Given the description of an element on the screen output the (x, y) to click on. 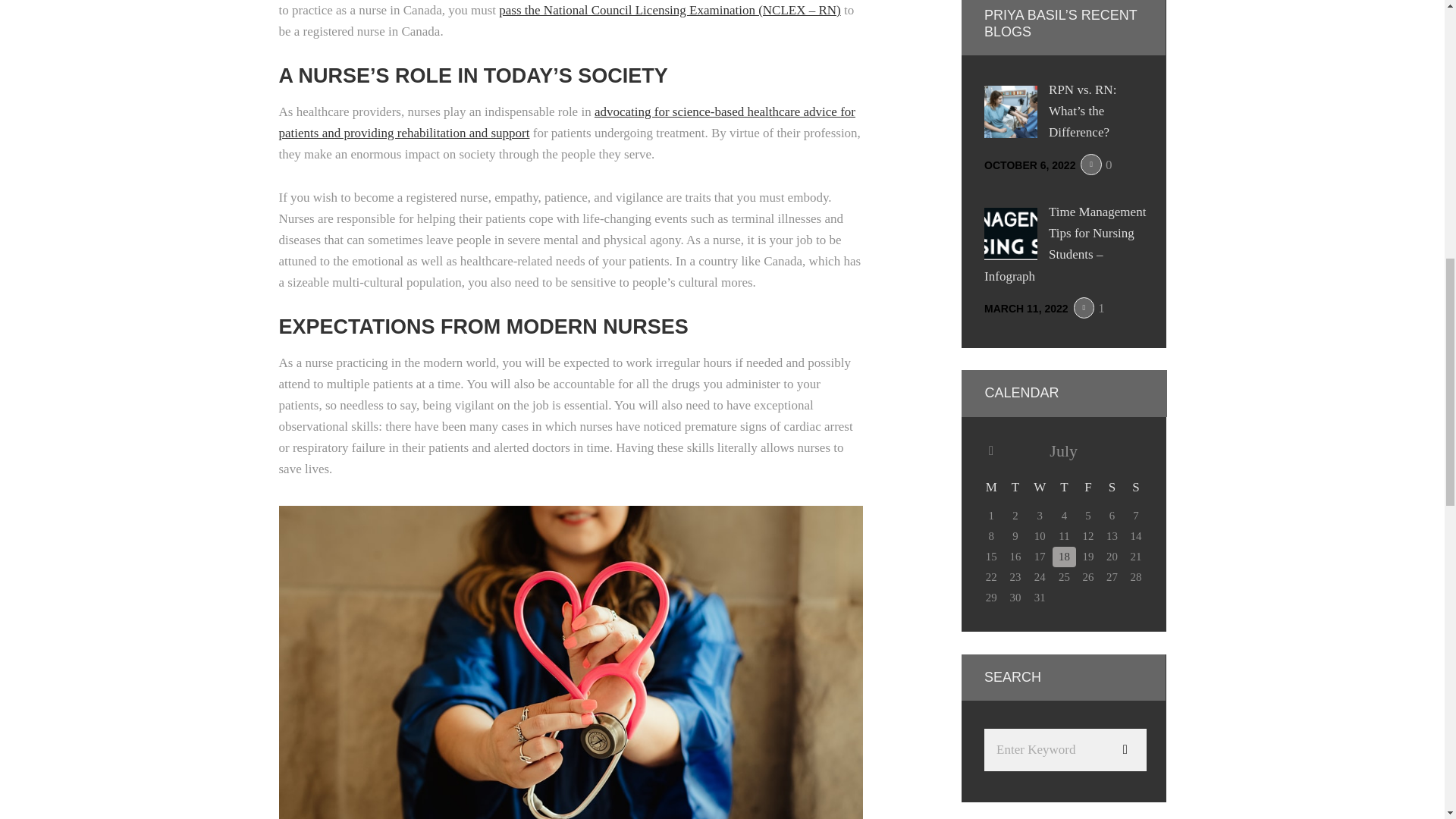
Search for: (1065, 749)
Saturday (1112, 487)
Tuesday (1014, 487)
Sunday (1136, 487)
Friday (1087, 487)
Wednesday (1039, 487)
Monday (990, 487)
View posts for January 2023 (990, 450)
Thursday (1063, 487)
